Given the description of an element on the screen output the (x, y) to click on. 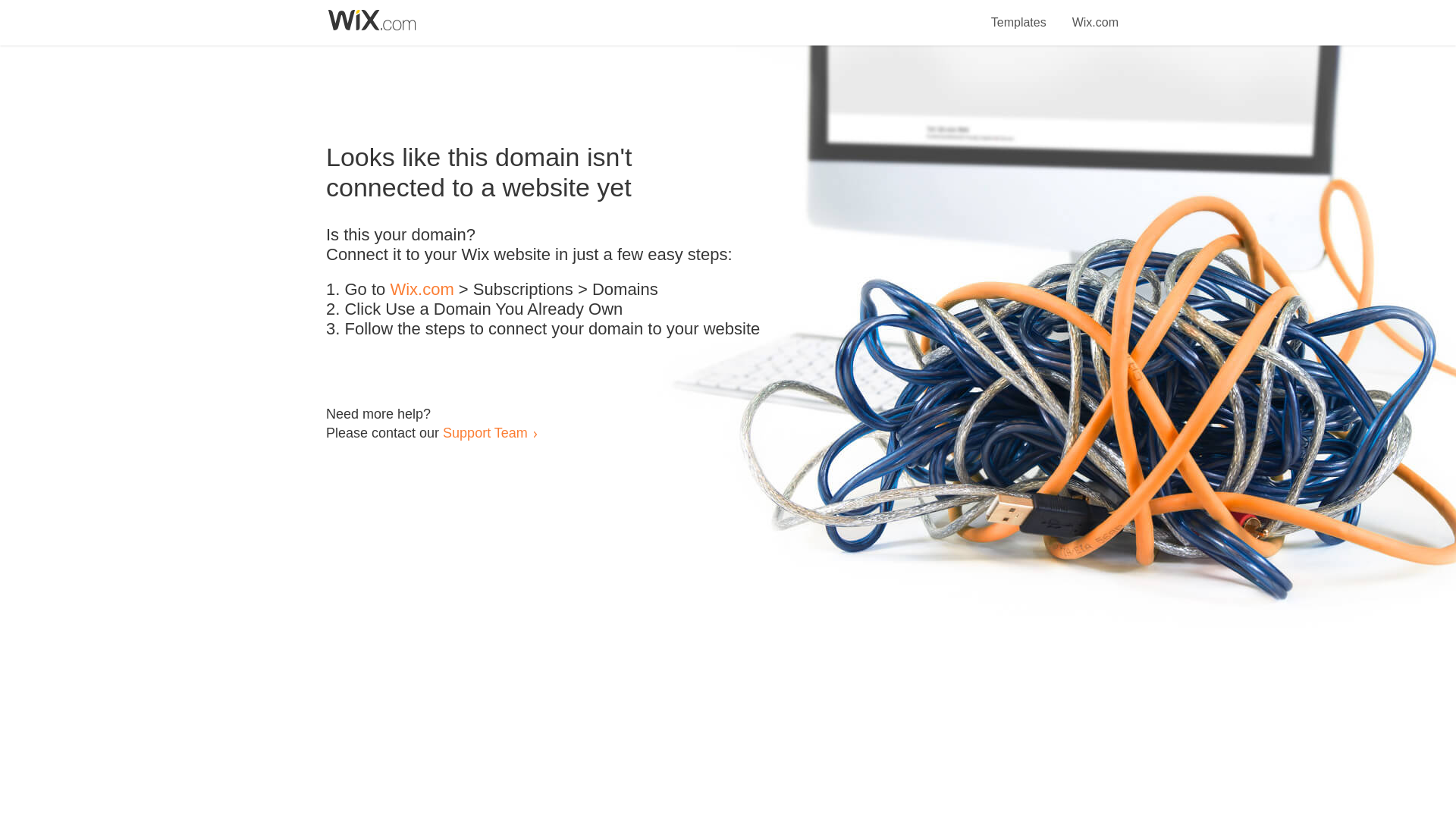
Support Team (484, 432)
Wix.com (1095, 14)
Templates (1018, 14)
Wix.com (421, 289)
